Given the description of an element on the screen output the (x, y) to click on. 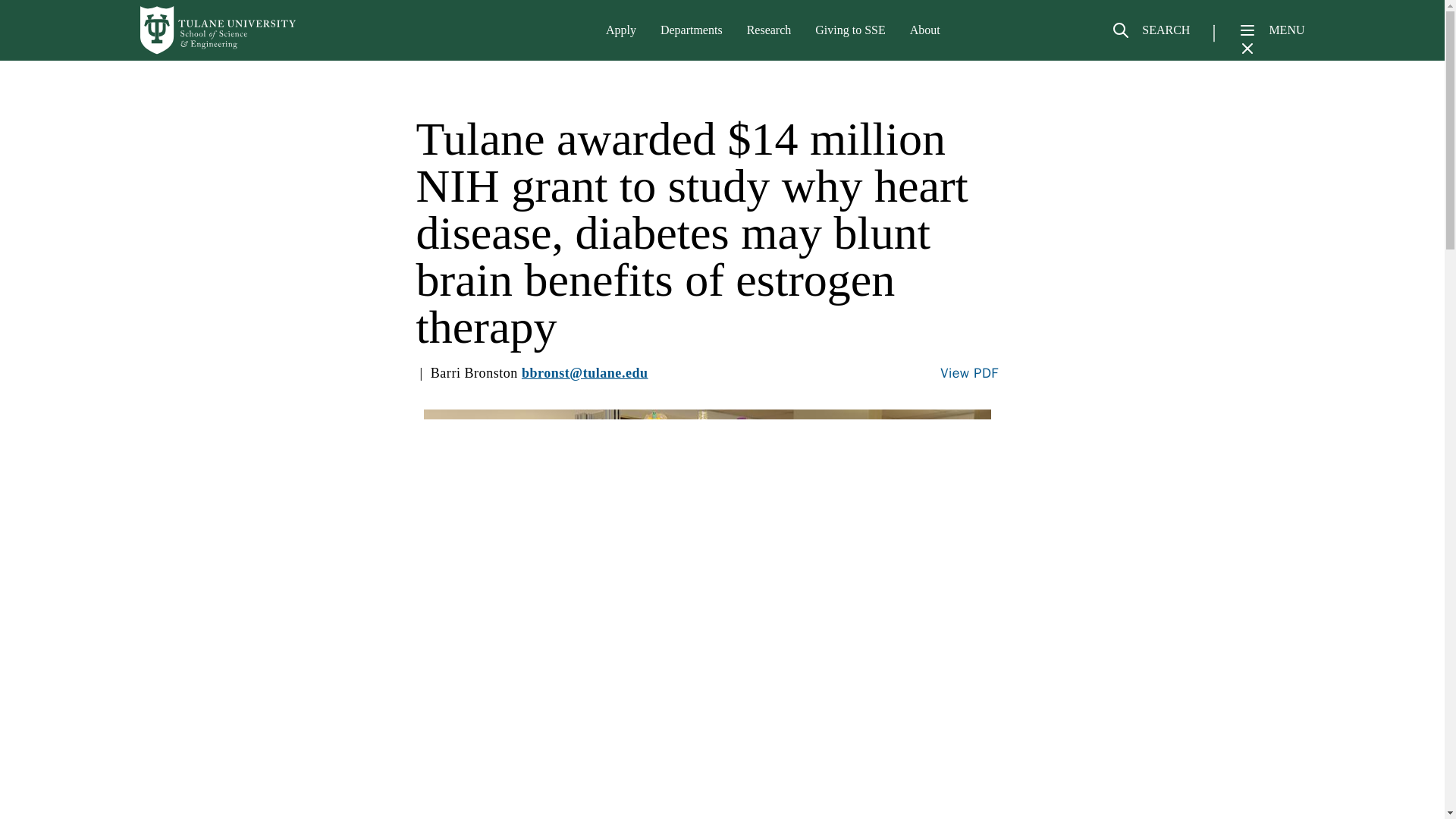
Giving to SSE (850, 29)
About (925, 29)
Apply (620, 29)
Home (218, 29)
SEARCH (1150, 36)
Departments (691, 29)
Research (769, 29)
